Given the description of an element on the screen output the (x, y) to click on. 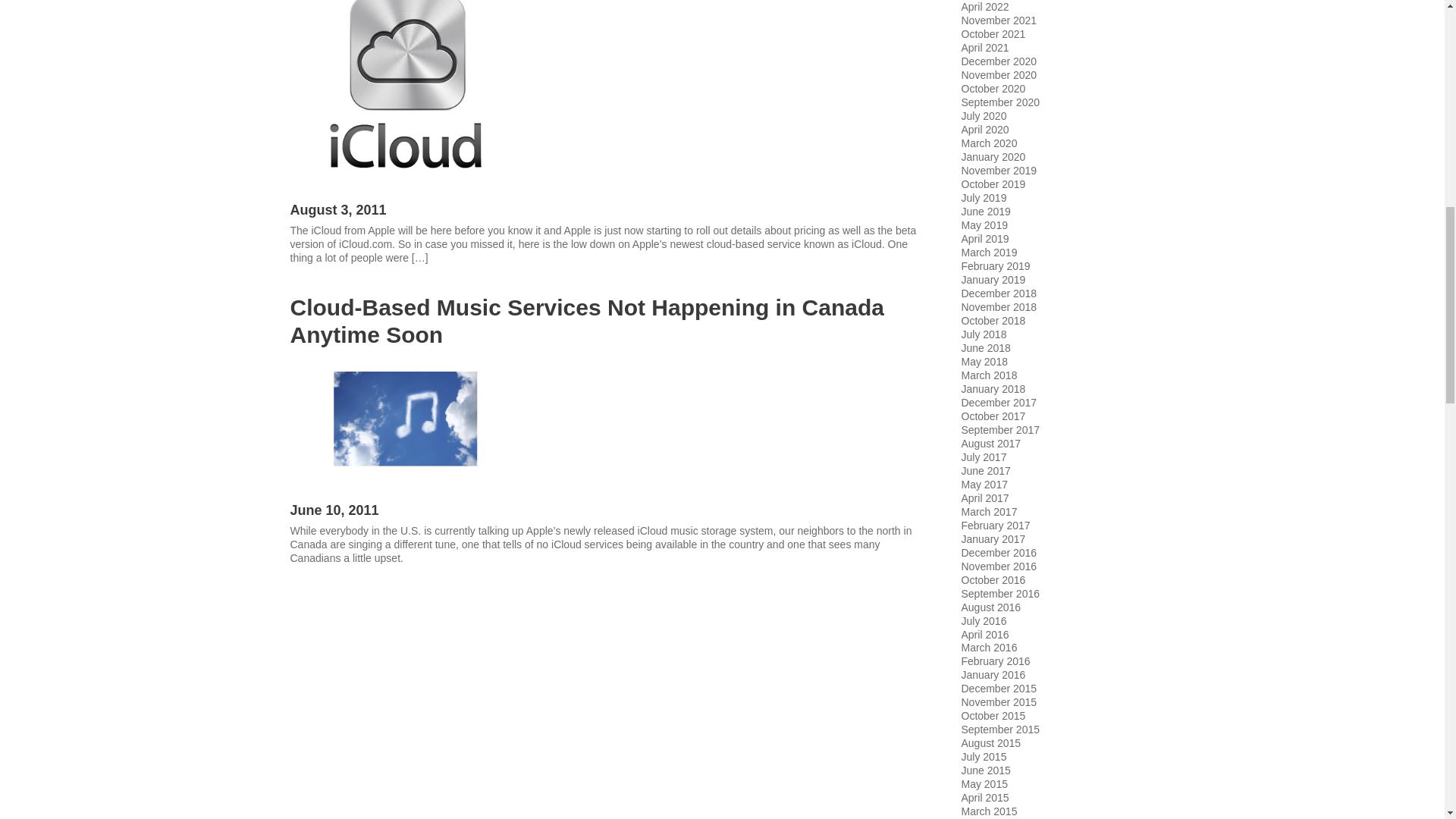
Read More (315, 286)
Read More (315, 586)
